Given the description of an element on the screen output the (x, y) to click on. 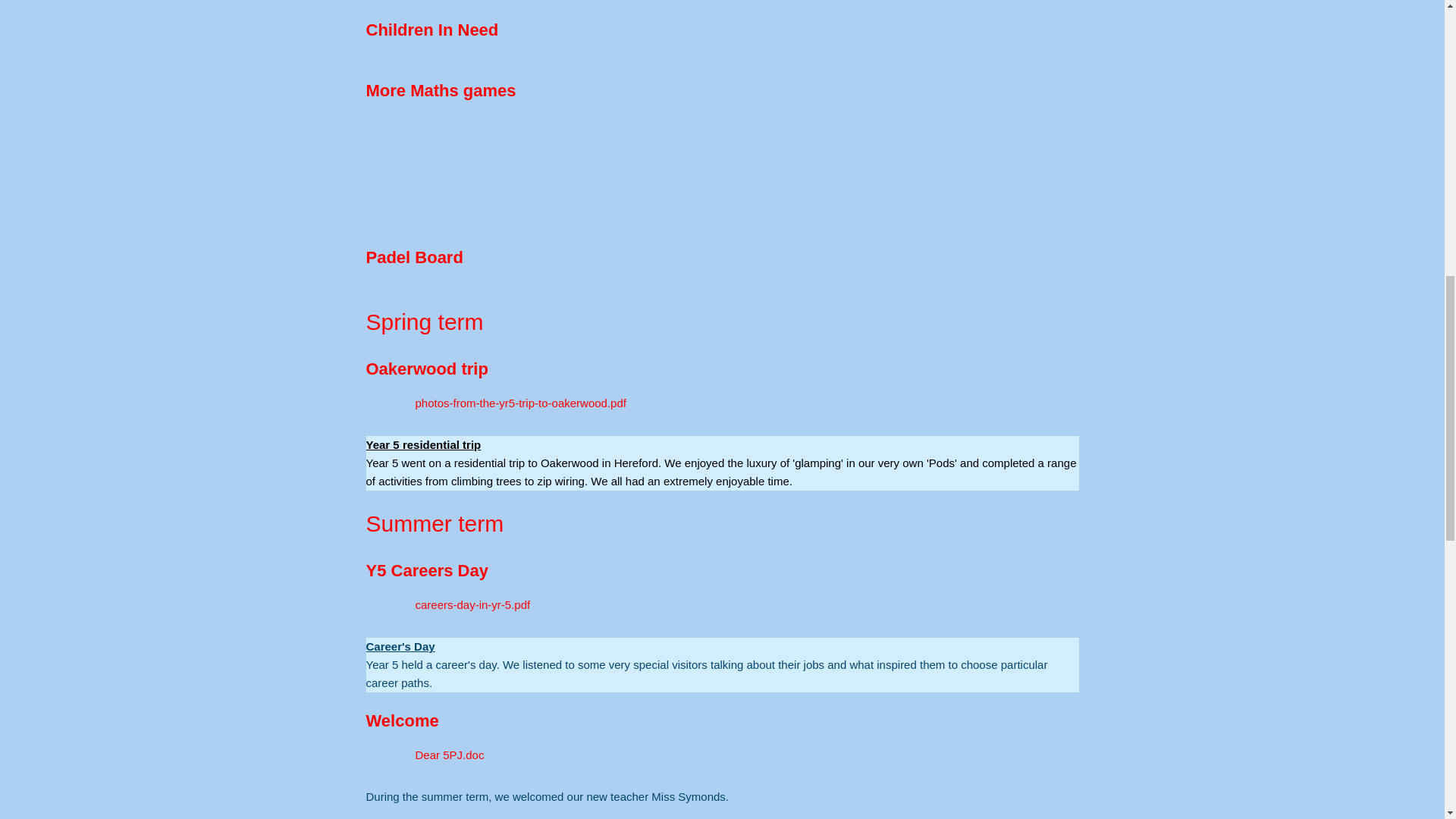
Dear 5PJ.doc (424, 755)
View large version of image (994, 166)
View large version of image (448, 166)
View large version of image (630, 166)
View large version of image (812, 166)
photos-from-the-yr5-trip-to-oakerwood.pdf (495, 402)
careers-day-in-yr-5.pdf (447, 605)
